Given the description of an element on the screen output the (x, y) to click on. 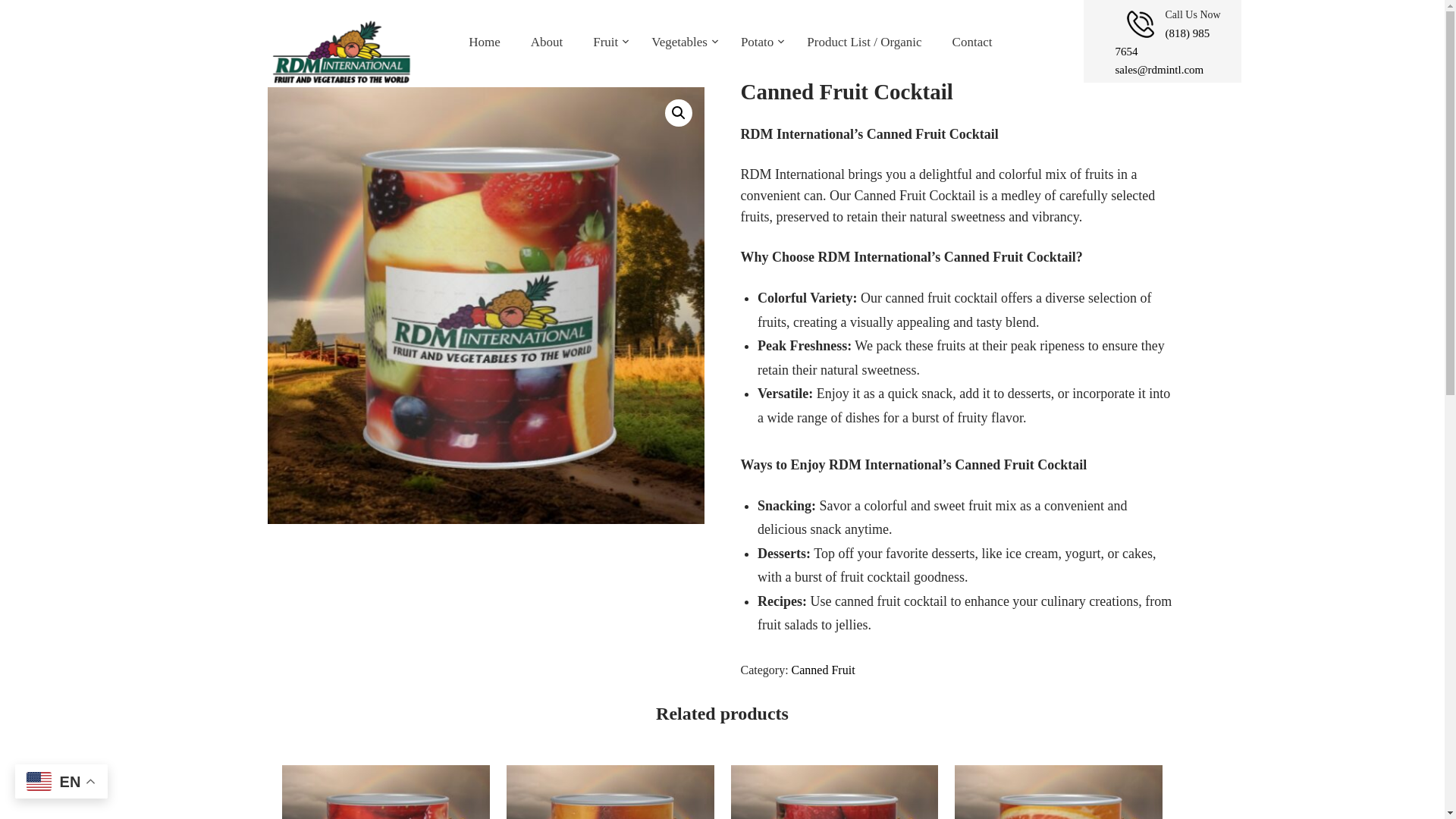
Canned Fruit (824, 669)
Canned Peaches (610, 791)
Vegetables (680, 42)
Canned Apples (834, 791)
Canned Mandarin Oranges (1058, 791)
Canned Strawberries (385, 791)
